Given the description of an element on the screen output the (x, y) to click on. 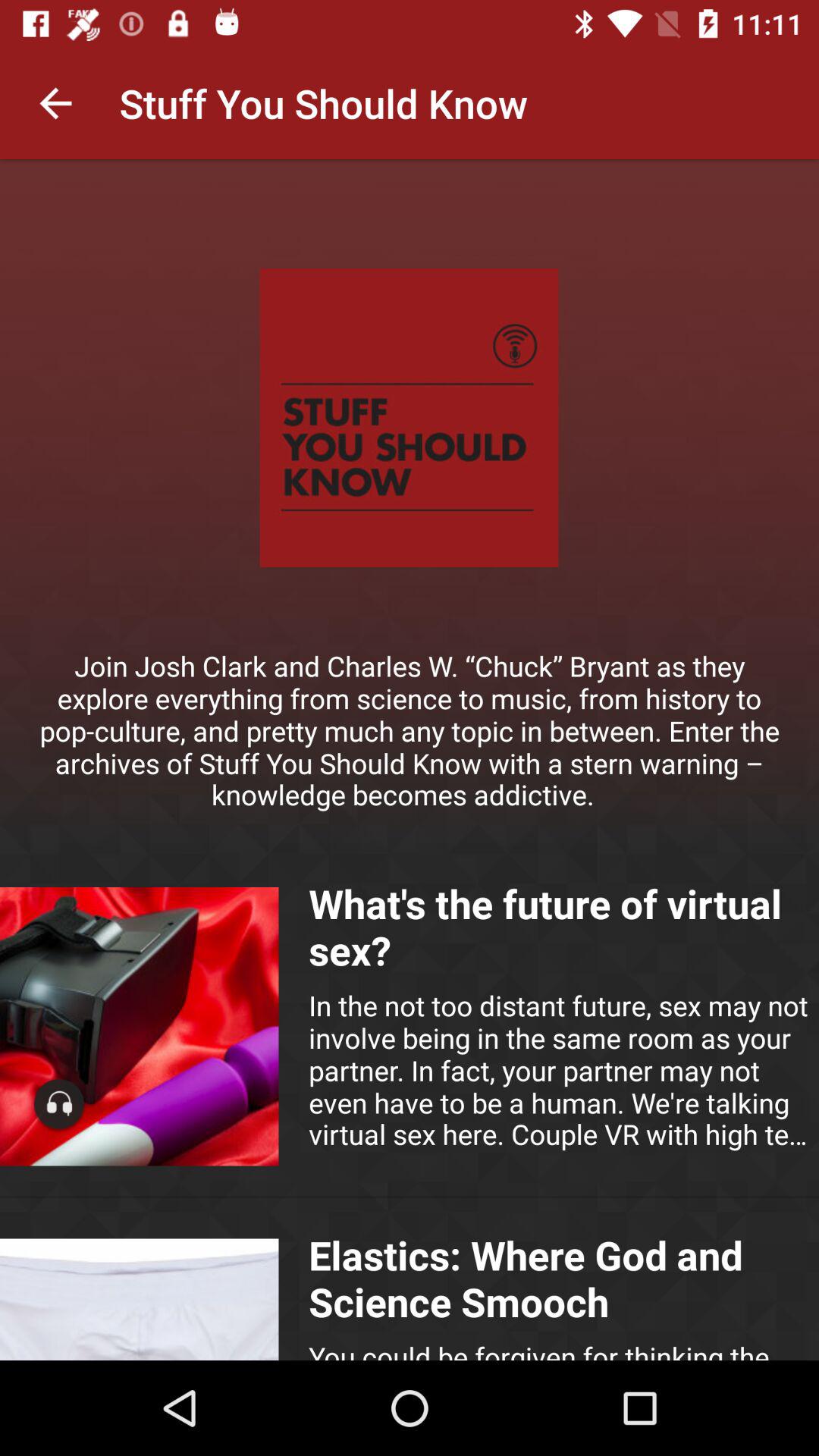
open the item at the top left corner (55, 103)
